Given the description of an element on the screen output the (x, y) to click on. 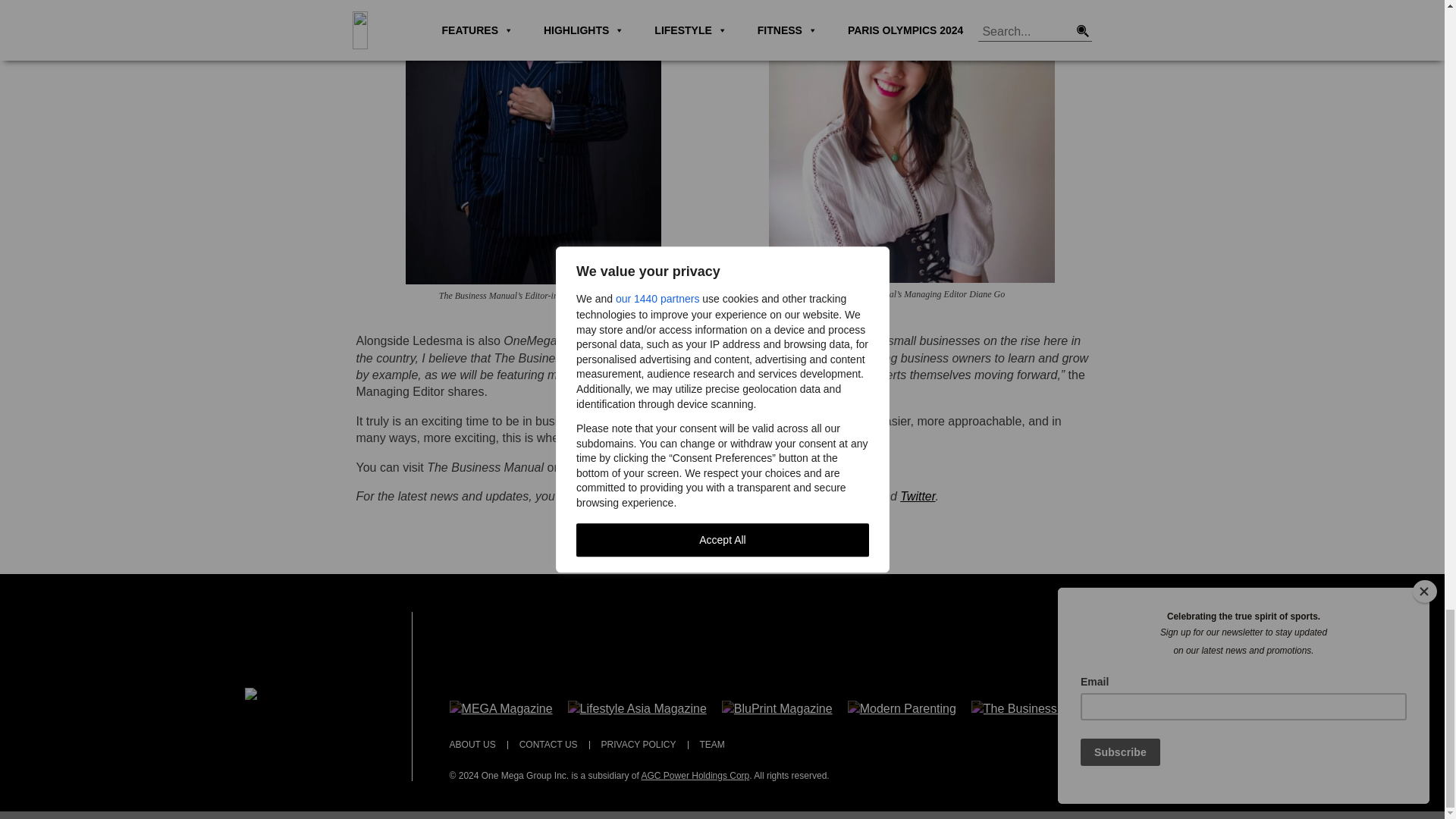
BluPrint Magazine (777, 707)
Lifestyle Asia Magazine (636, 707)
The Business Manual (1035, 707)
One Mega Group Inc. (309, 695)
The Game (1150, 707)
MEGA Magazine (501, 707)
Modern Parenting (901, 707)
